Given the description of an element on the screen output the (x, y) to click on. 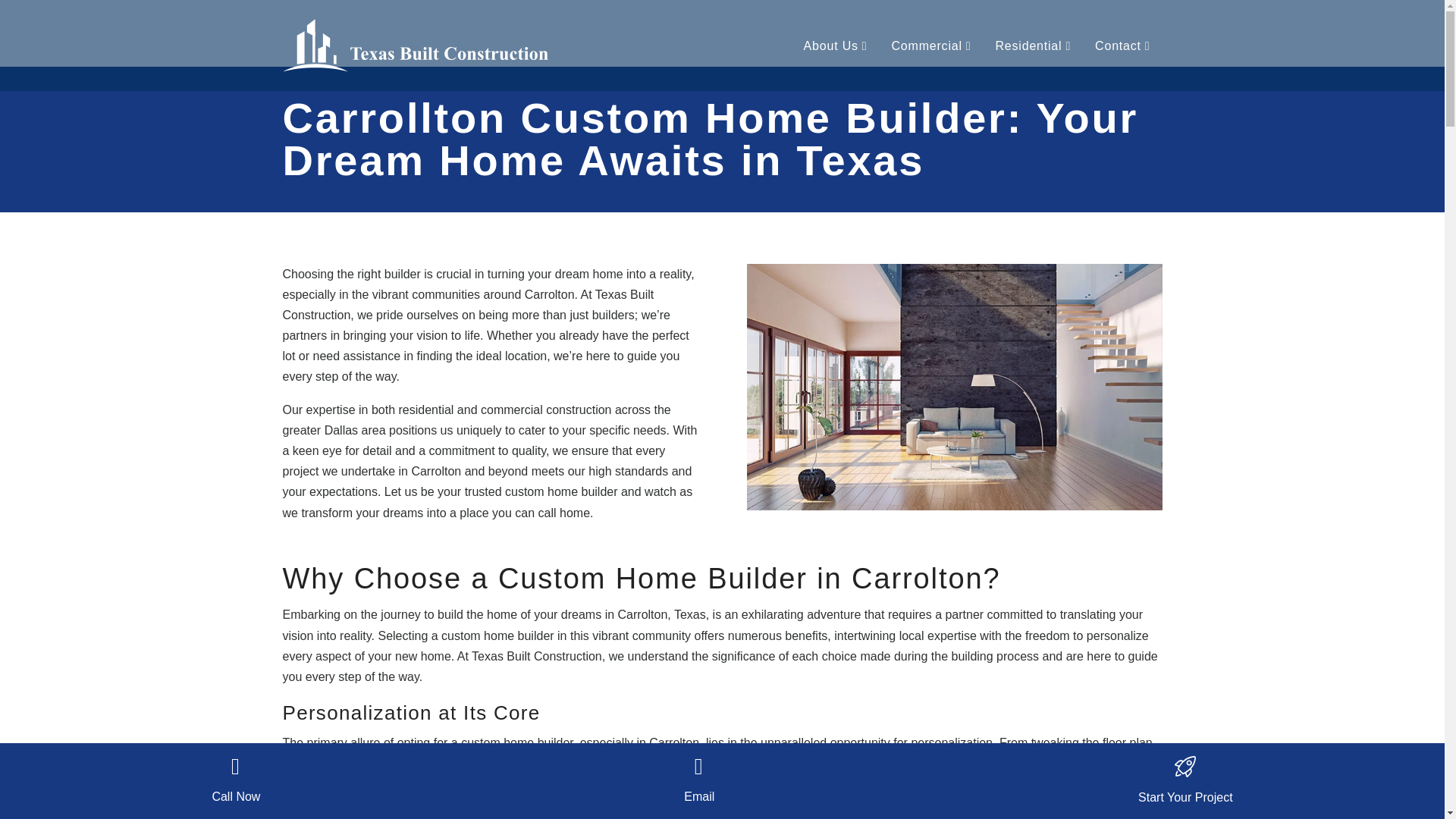
Commercial (930, 46)
Residential (1032, 46)
About Us (835, 46)
Custom home construction company (953, 387)
Contact (1122, 46)
